Given the description of an element on the screen output the (x, y) to click on. 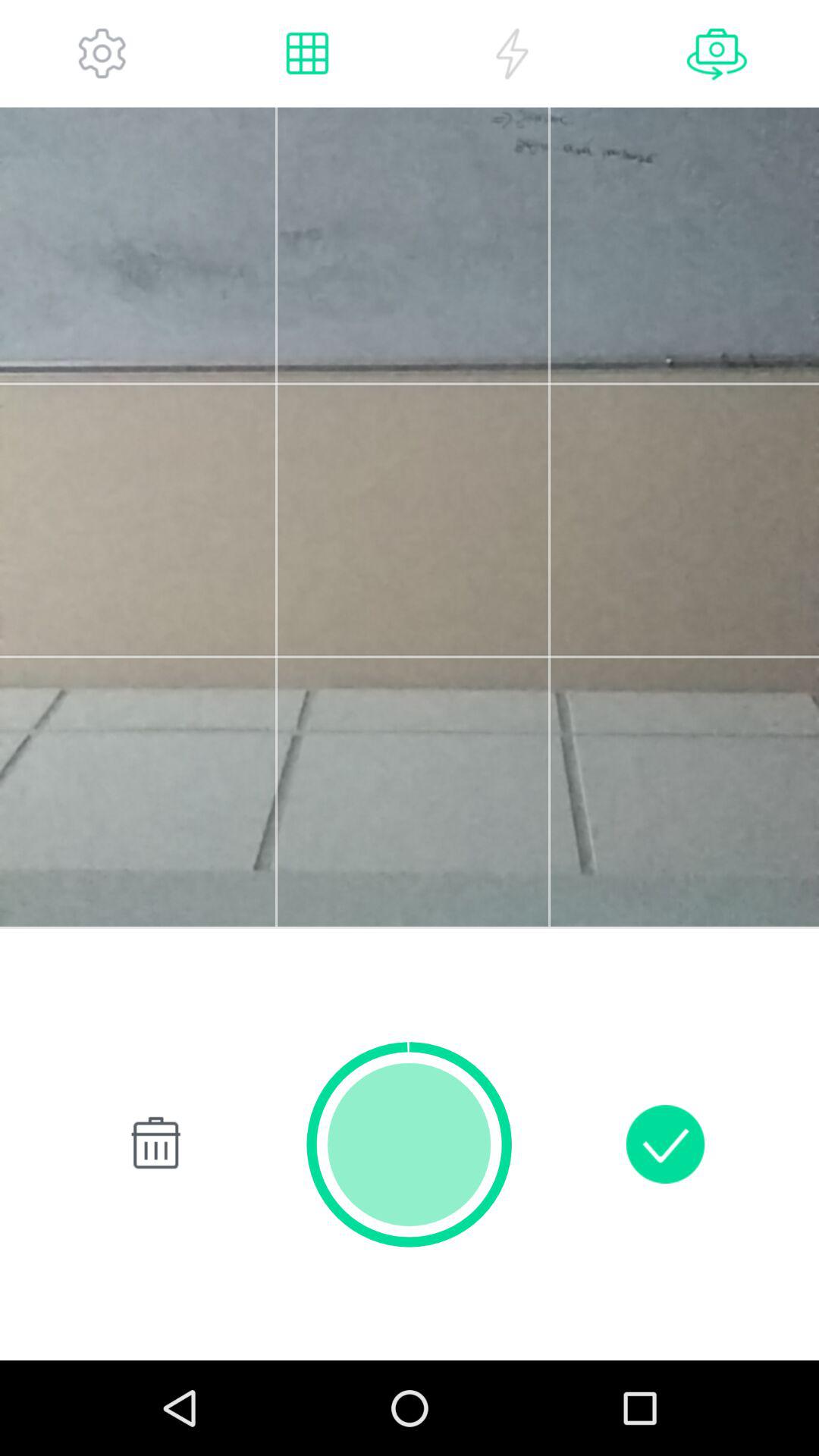
go to settings (102, 53)
